Given the description of an element on the screen output the (x, y) to click on. 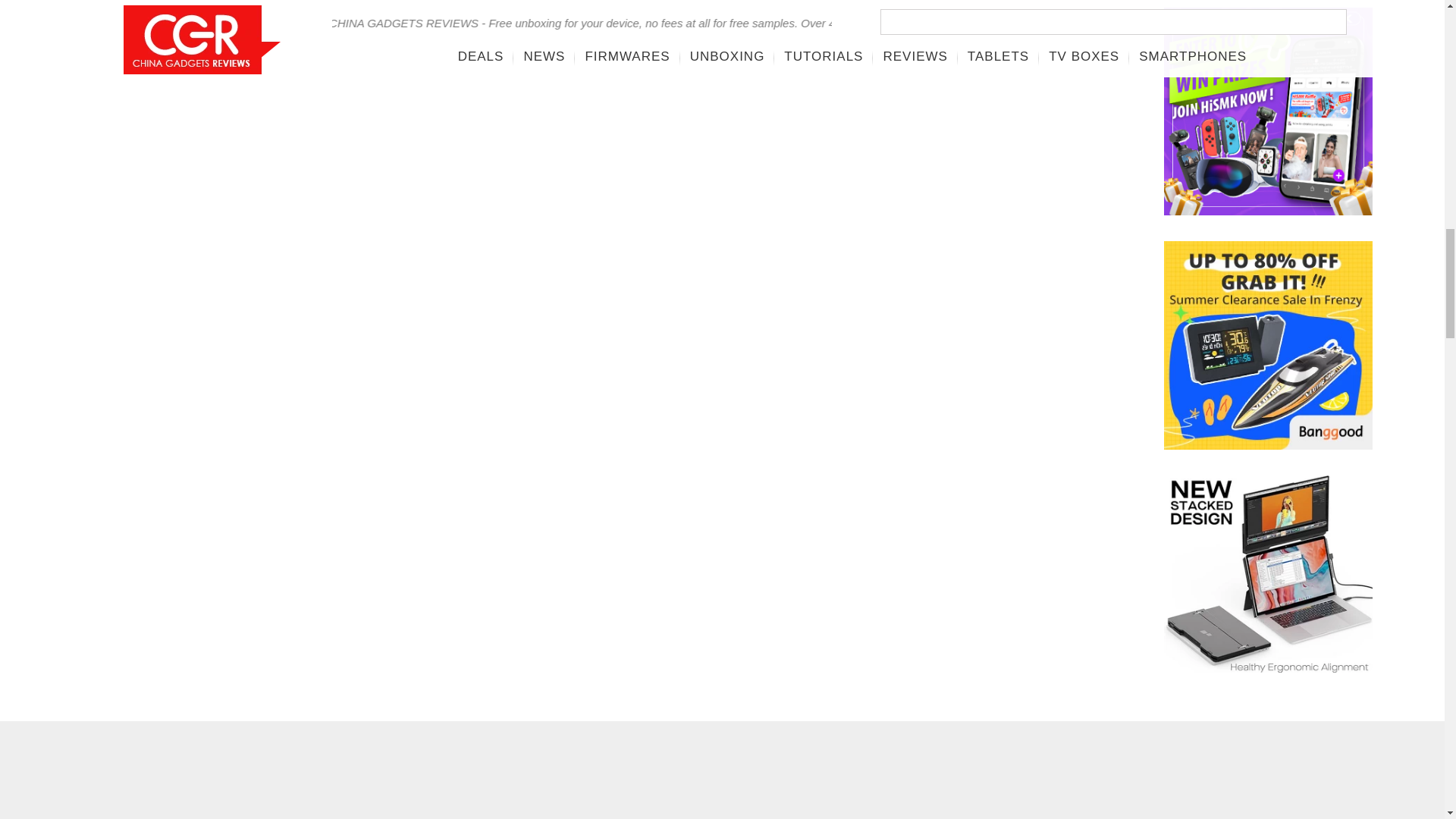
Advertisement (612, 43)
Advertisement (191, 781)
Advertisement (898, 781)
Advertisement (544, 781)
Advertisement (1252, 781)
